Given the description of an element on the screen output the (x, y) to click on. 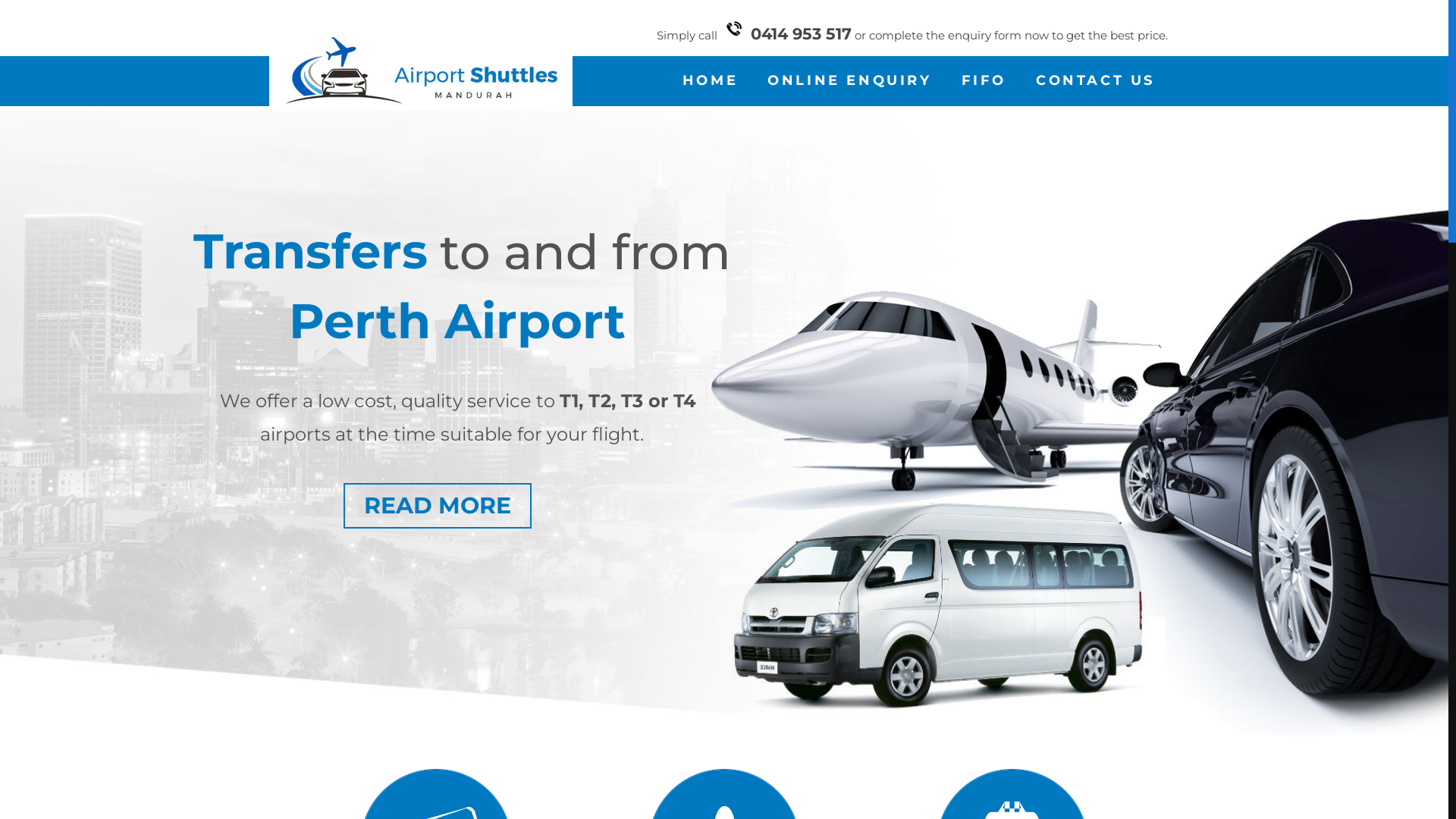
0414 953 517 Element type: text (800, 33)
ONLINE ENQUIRY Element type: text (849, 80)
CONTACT US Element type: text (1094, 80)
FIFO Element type: text (983, 80)
HOME Element type: text (709, 80)
READ MORE Element type: text (437, 505)
